Given the description of an element on the screen output the (x, y) to click on. 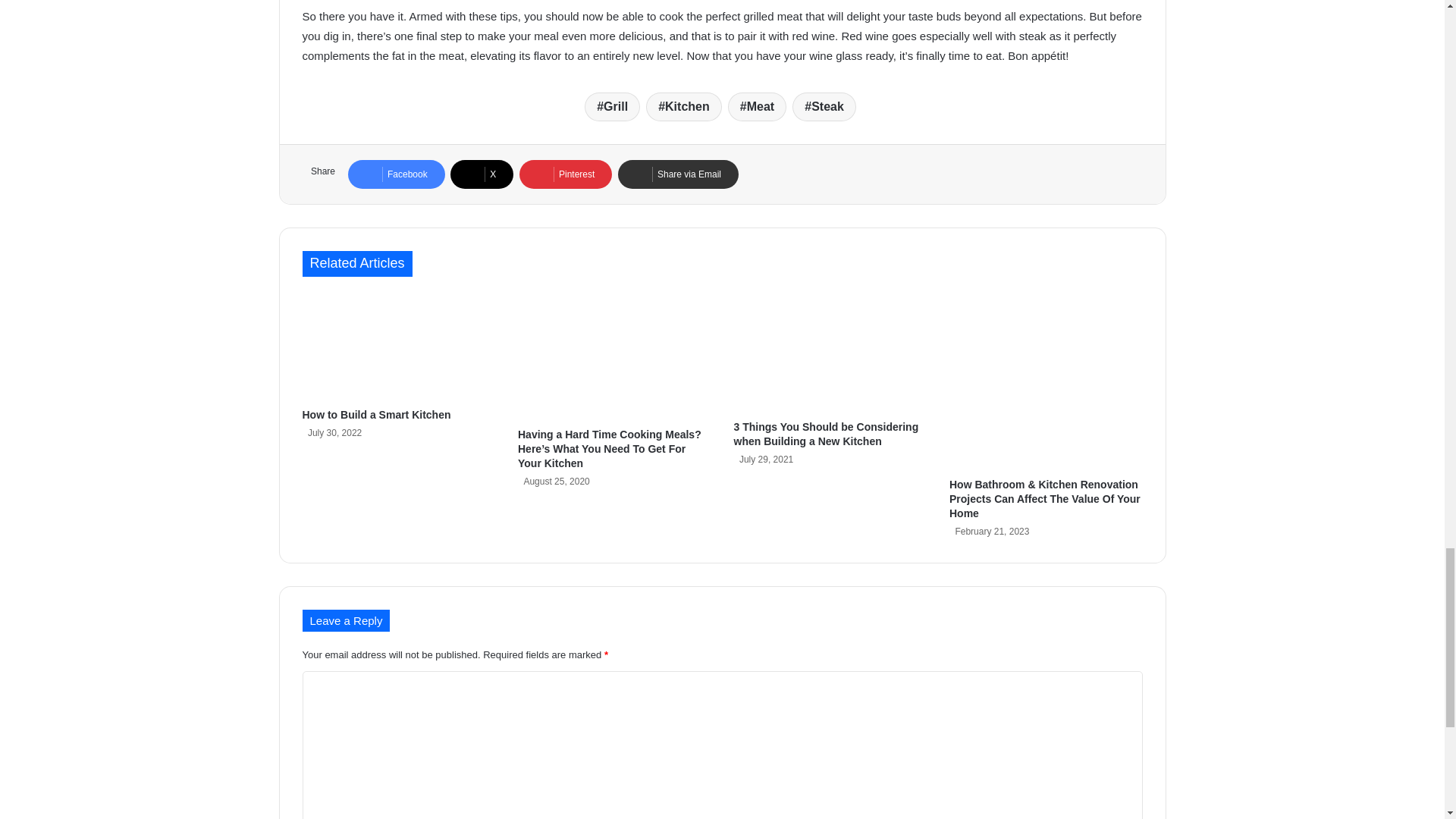
X (481, 174)
Pinterest (565, 174)
Share via Email (677, 174)
Facebook (396, 174)
